Given the description of an element on the screen output the (x, y) to click on. 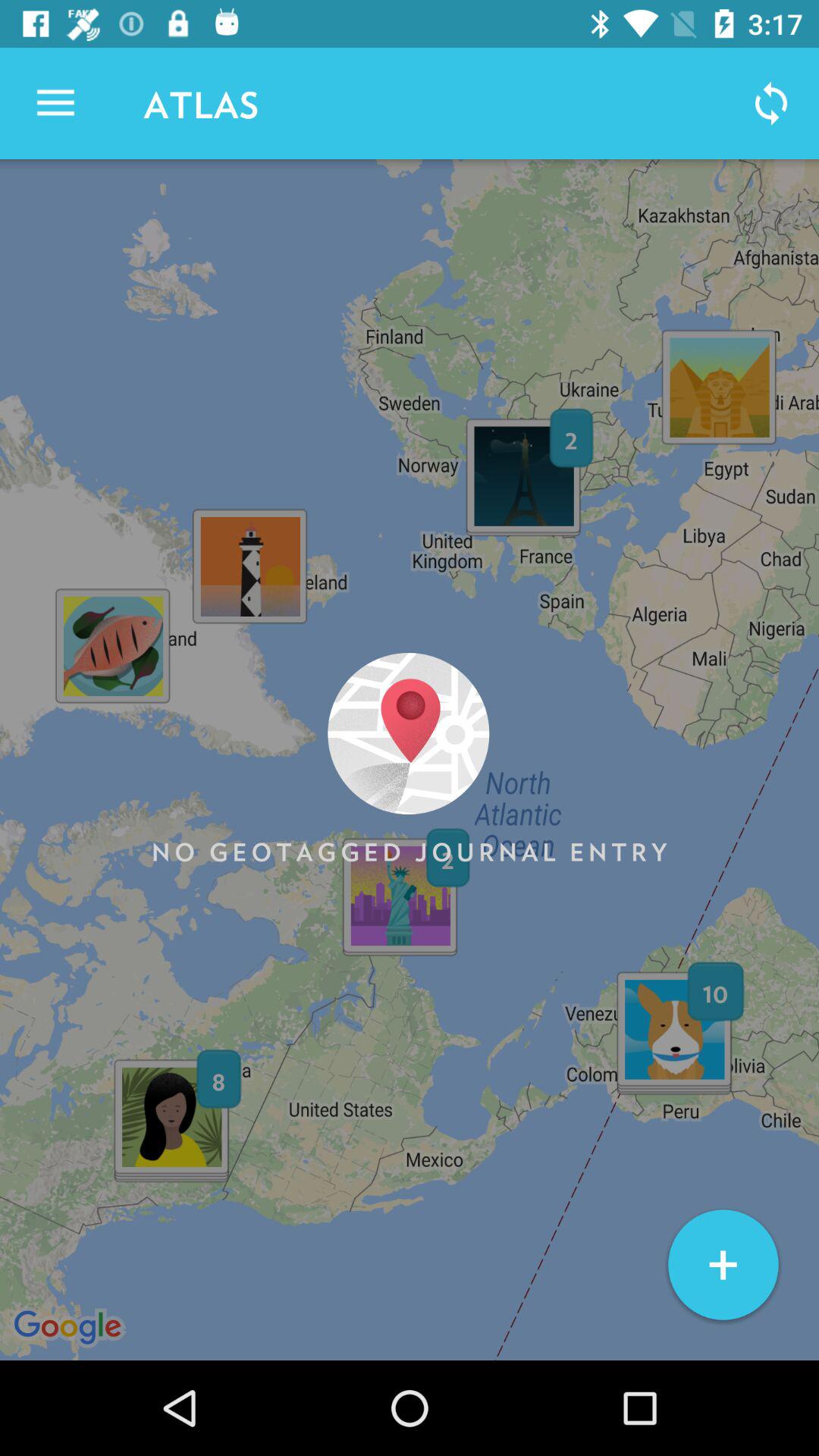
turn off the icon at the top right corner (771, 103)
